Given the description of an element on the screen output the (x, y) to click on. 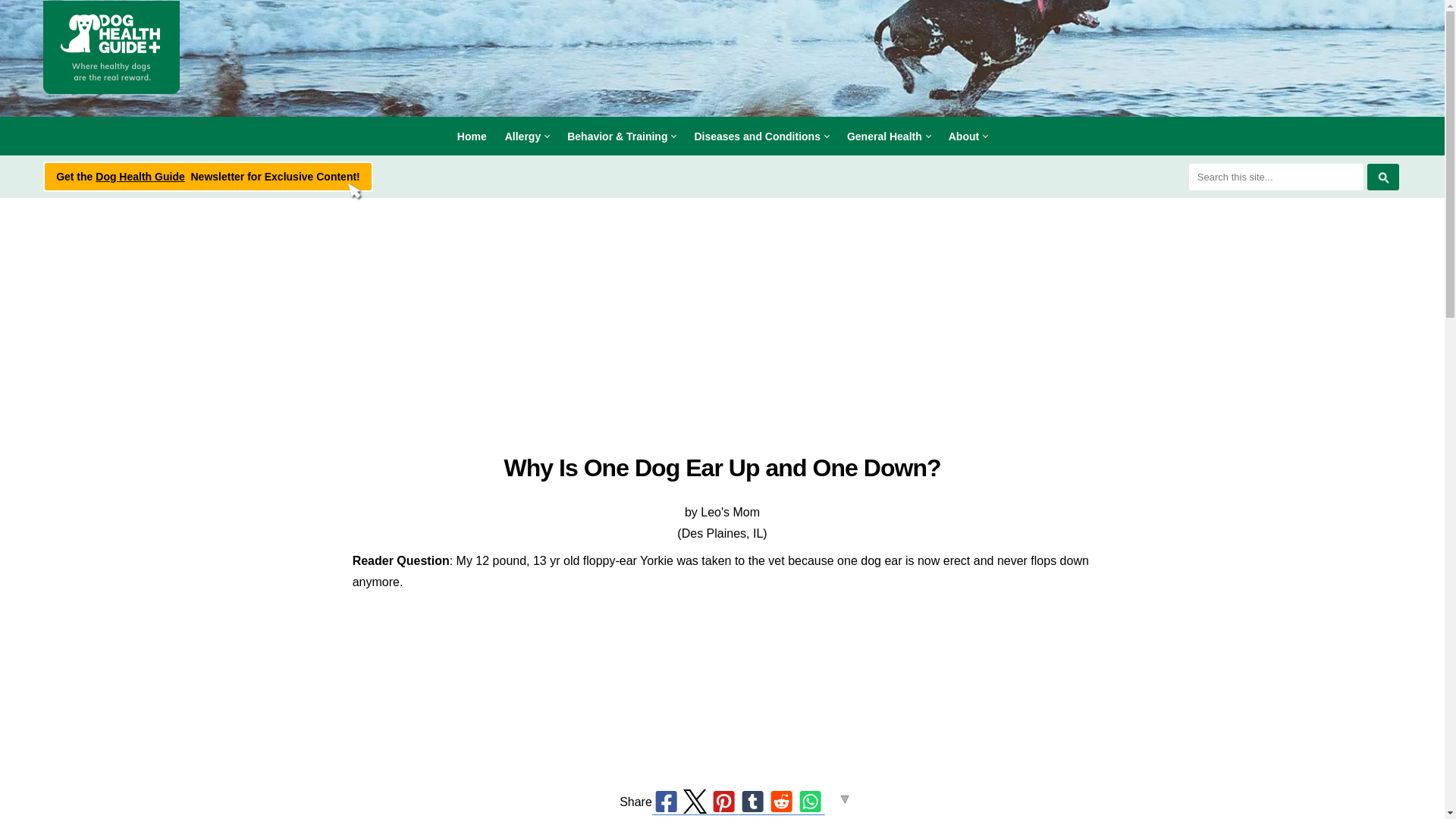
Allergy (526, 136)
Search this site... (1275, 176)
Home (472, 136)
Go (1383, 176)
Search this site... (1275, 176)
Diseases and Conditions (760, 136)
Dog Health Guide (111, 47)
Advertisement (721, 719)
